Given the description of an element on the screen output the (x, y) to click on. 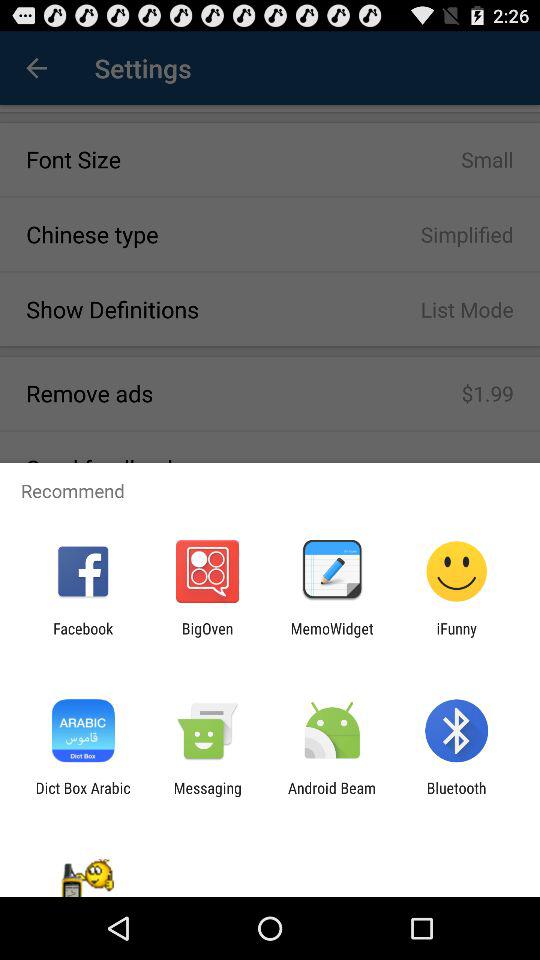
jump to ifunny app (456, 637)
